Given the description of an element on the screen output the (x, y) to click on. 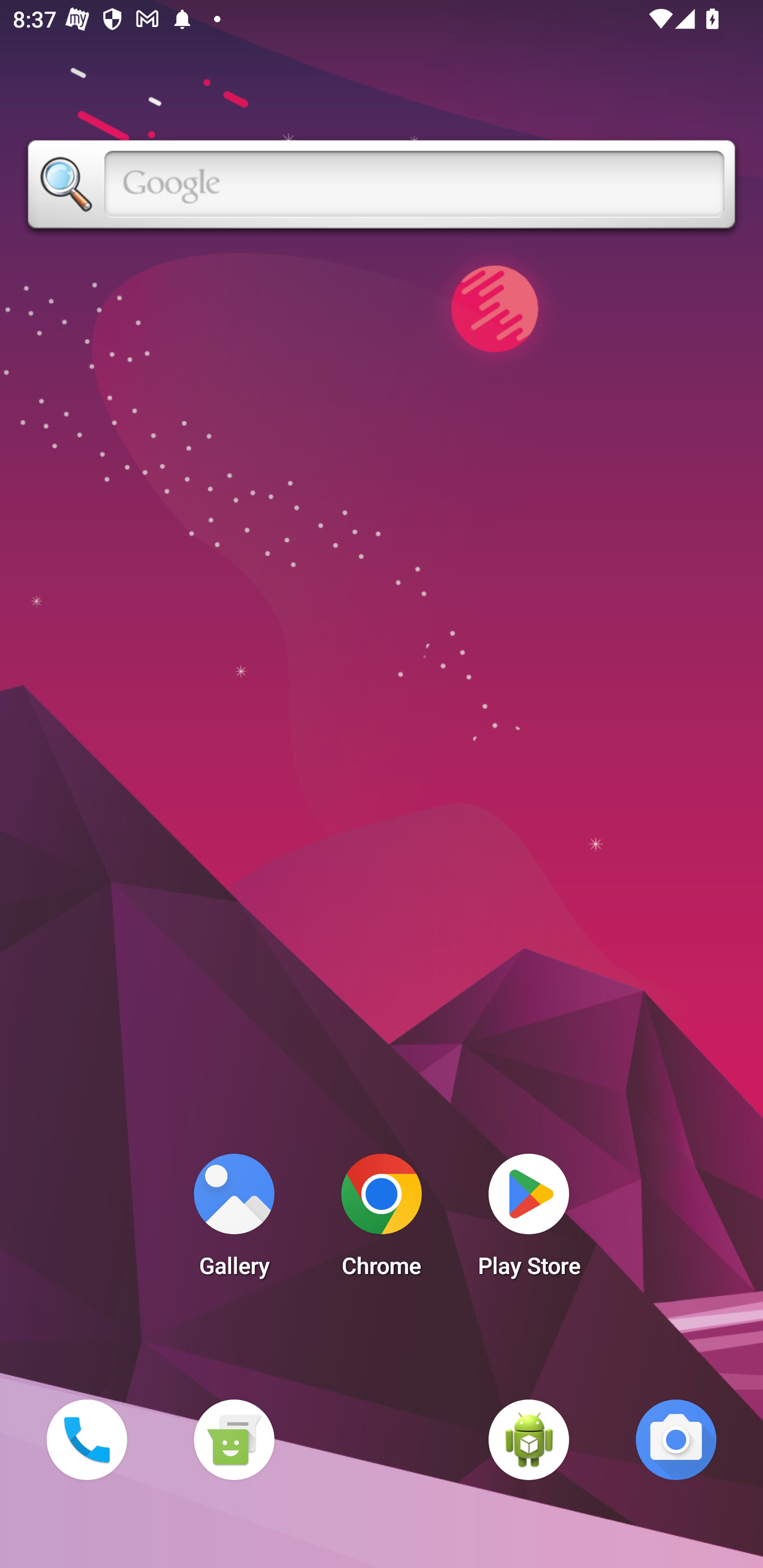
Gallery (233, 1220)
Chrome (381, 1220)
Play Store (528, 1220)
Phone (86, 1439)
Messaging (233, 1439)
WebView Browser Tester (528, 1439)
Camera (676, 1439)
